Given the description of an element on the screen output the (x, y) to click on. 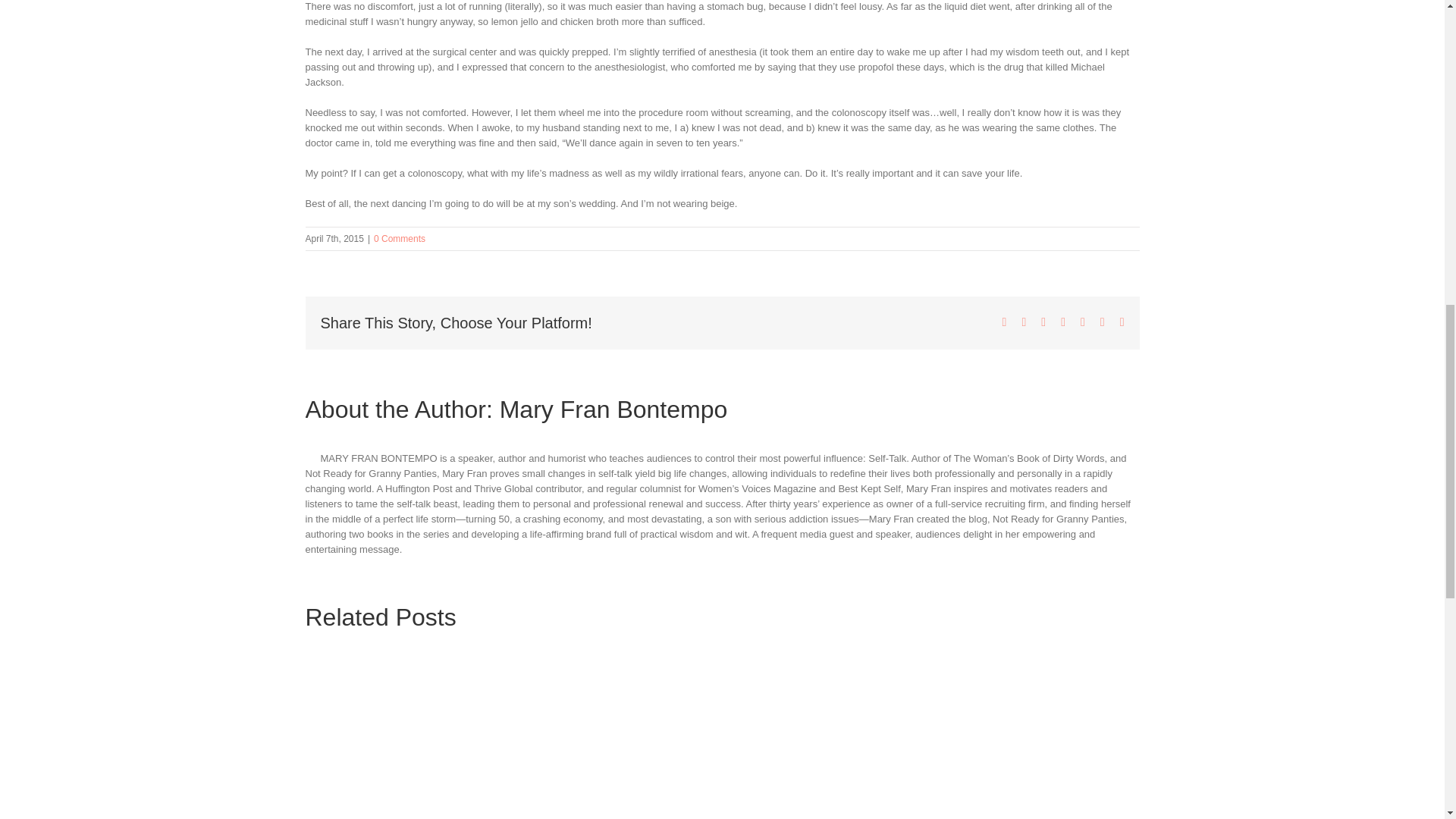
0 Comments (399, 238)
Mary Fran Bontempo (613, 409)
